Given the description of an element on the screen output the (x, y) to click on. 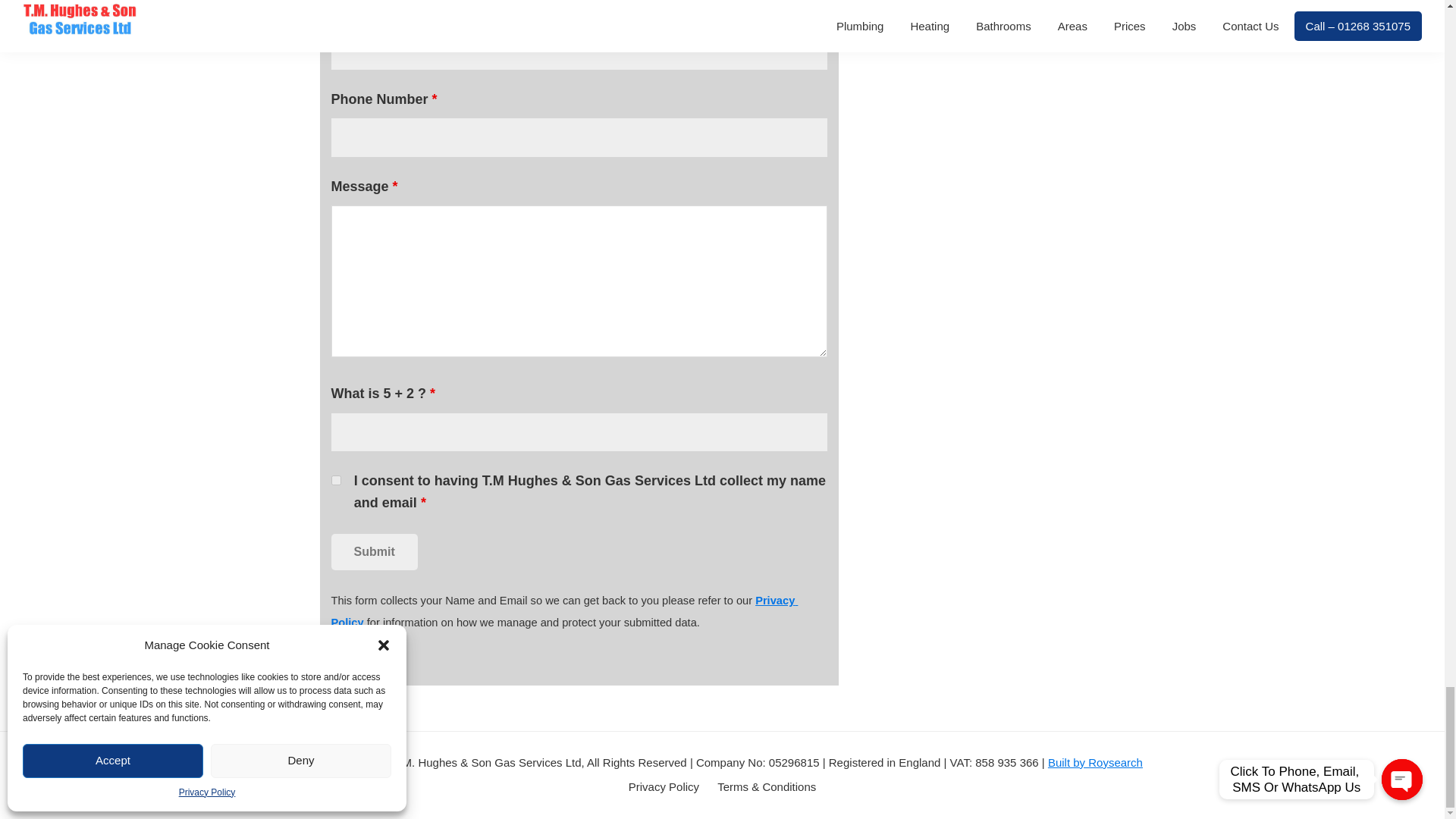
Submit (373, 551)
1 (335, 480)
